Given the description of an element on the screen output the (x, y) to click on. 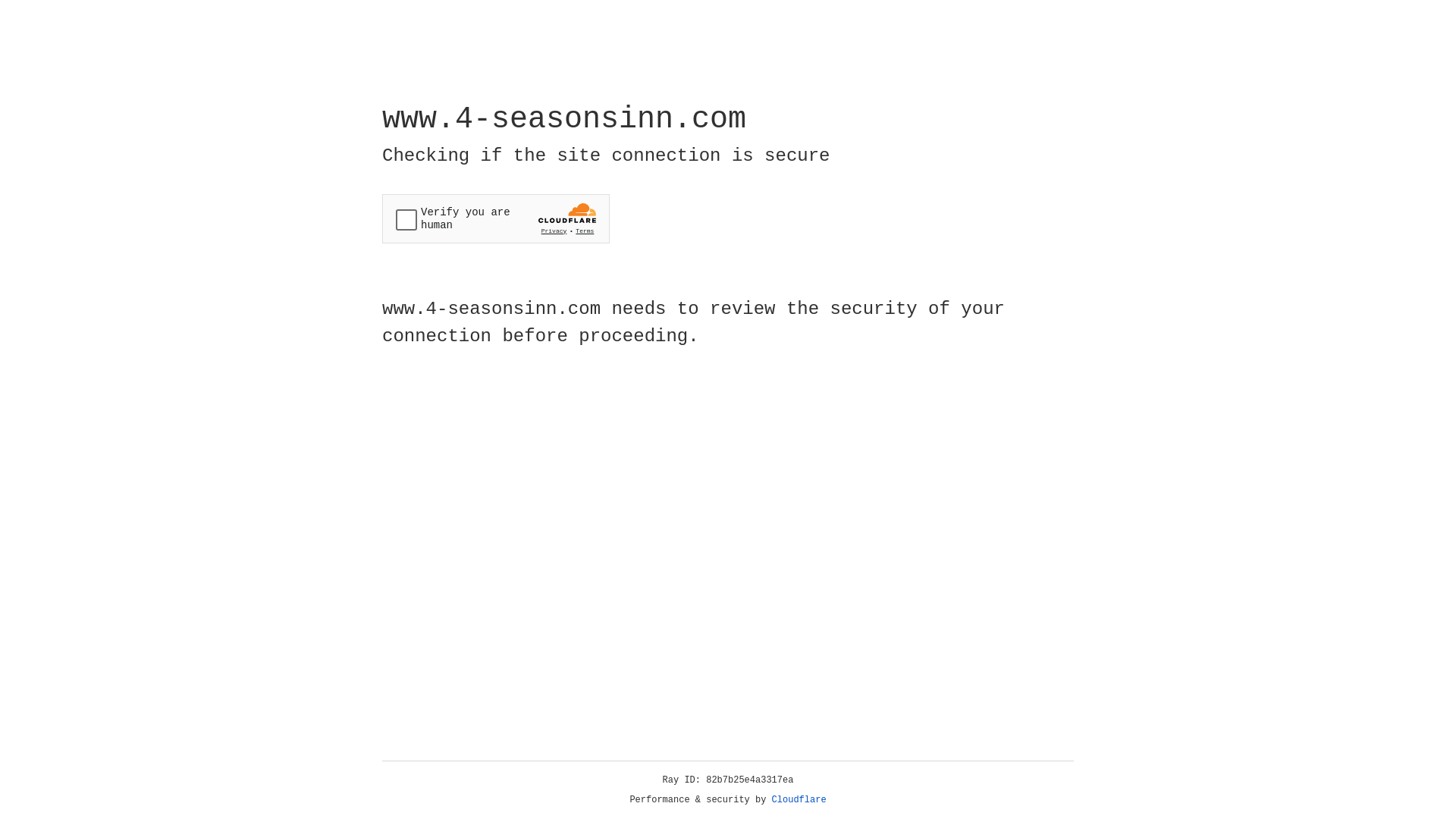
Cloudflare Element type: text (798, 799)
Widget containing a Cloudflare security challenge Element type: hover (495, 218)
